Given the description of an element on the screen output the (x, y) to click on. 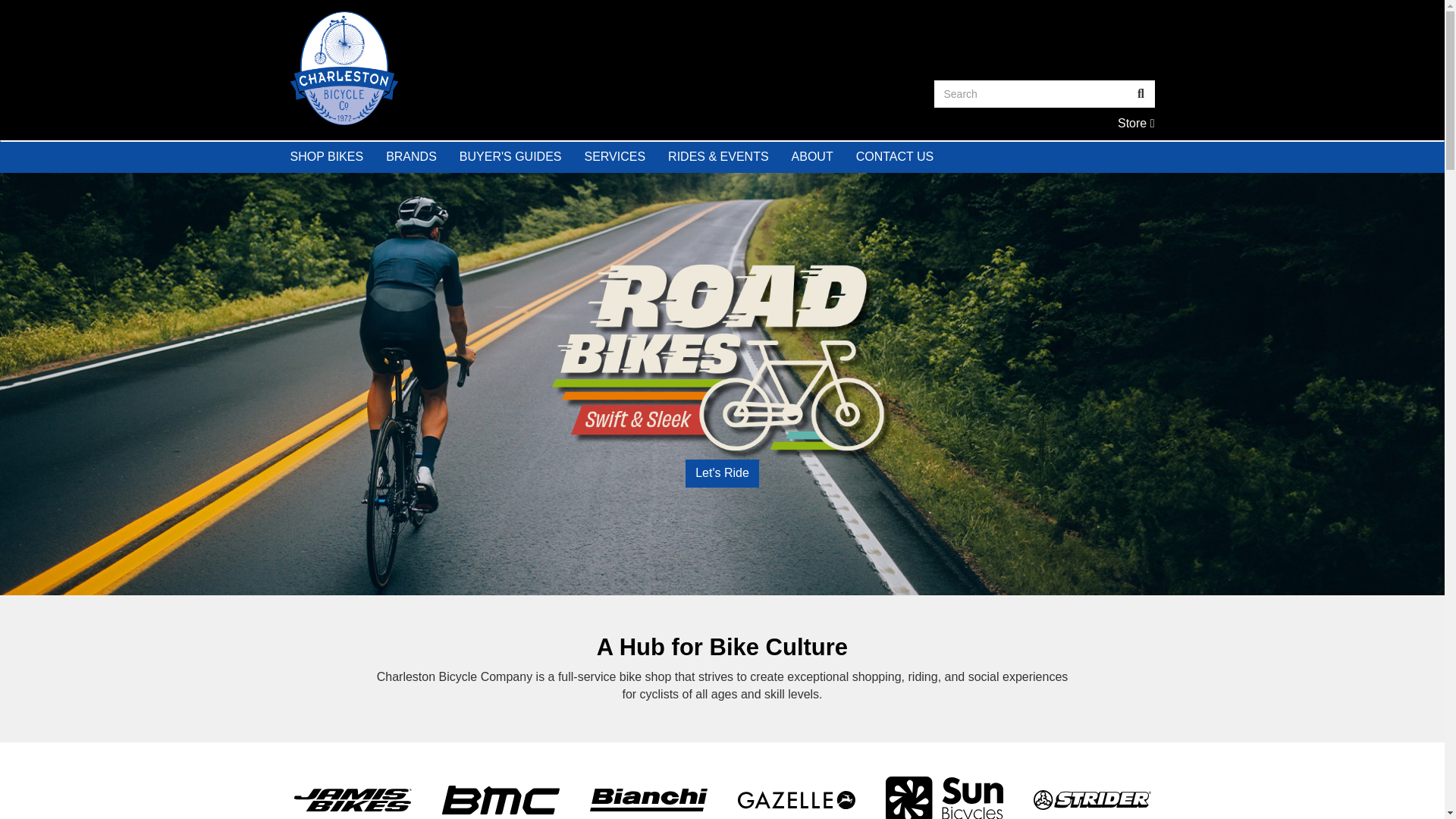
SERVICES (614, 156)
Search (1031, 93)
Search (1140, 93)
BUYER'S GUIDES (1136, 123)
BRANDS (510, 156)
Charleston Bicycle Company Home Page (411, 156)
Store (499, 68)
SHOP BIKES (1136, 123)
